Given the description of an element on the screen output the (x, y) to click on. 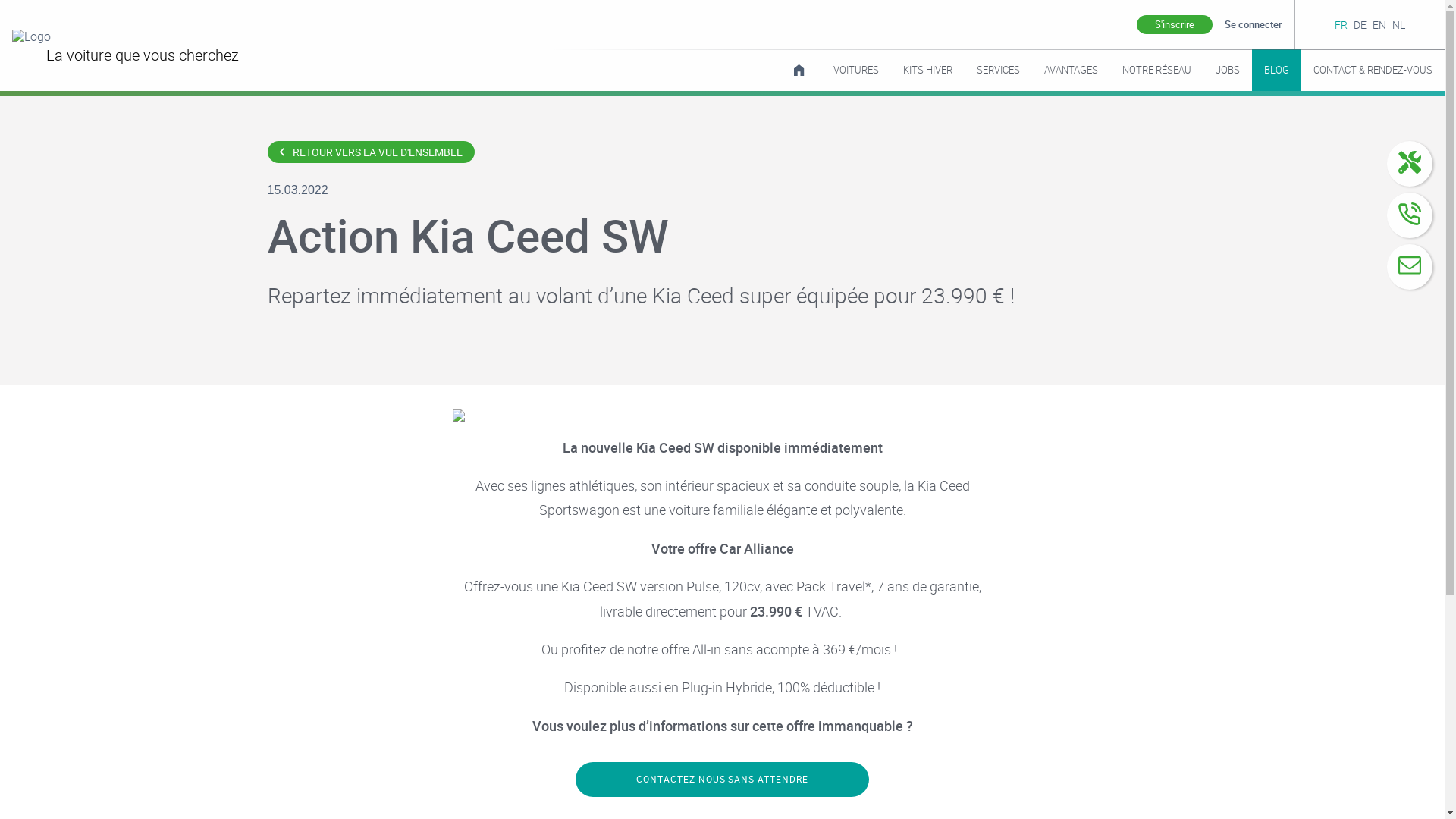
FR Element type: text (1340, 24)
DE Element type: text (1359, 24)
S'inscrire Element type: text (1174, 24)
NL Element type: text (1398, 24)
BLOG Element type: text (1276, 70)
Se connecter Element type: text (1253, 24)
JOBS Element type: text (1227, 70)
EN Element type: text (1379, 24)
CONTACT & RENDEZ-VOUS Element type: text (1372, 70)
La voiture que vous cherchez Element type: text (239, 45)
ACCUEIL Element type: text (799, 70)
SERVICES Element type: text (998, 70)
AVANTAGES Element type: text (1071, 70)
KITS HIVER Element type: text (927, 70)
RETOUR VERS LA VUE D'ENSEMBLE Element type: text (369, 152)
VOITURES Element type: text (856, 70)
CONTACTEZ-NOUS SANS ATTENDRE Element type: text (722, 779)
